Given the description of an element on the screen output the (x, y) to click on. 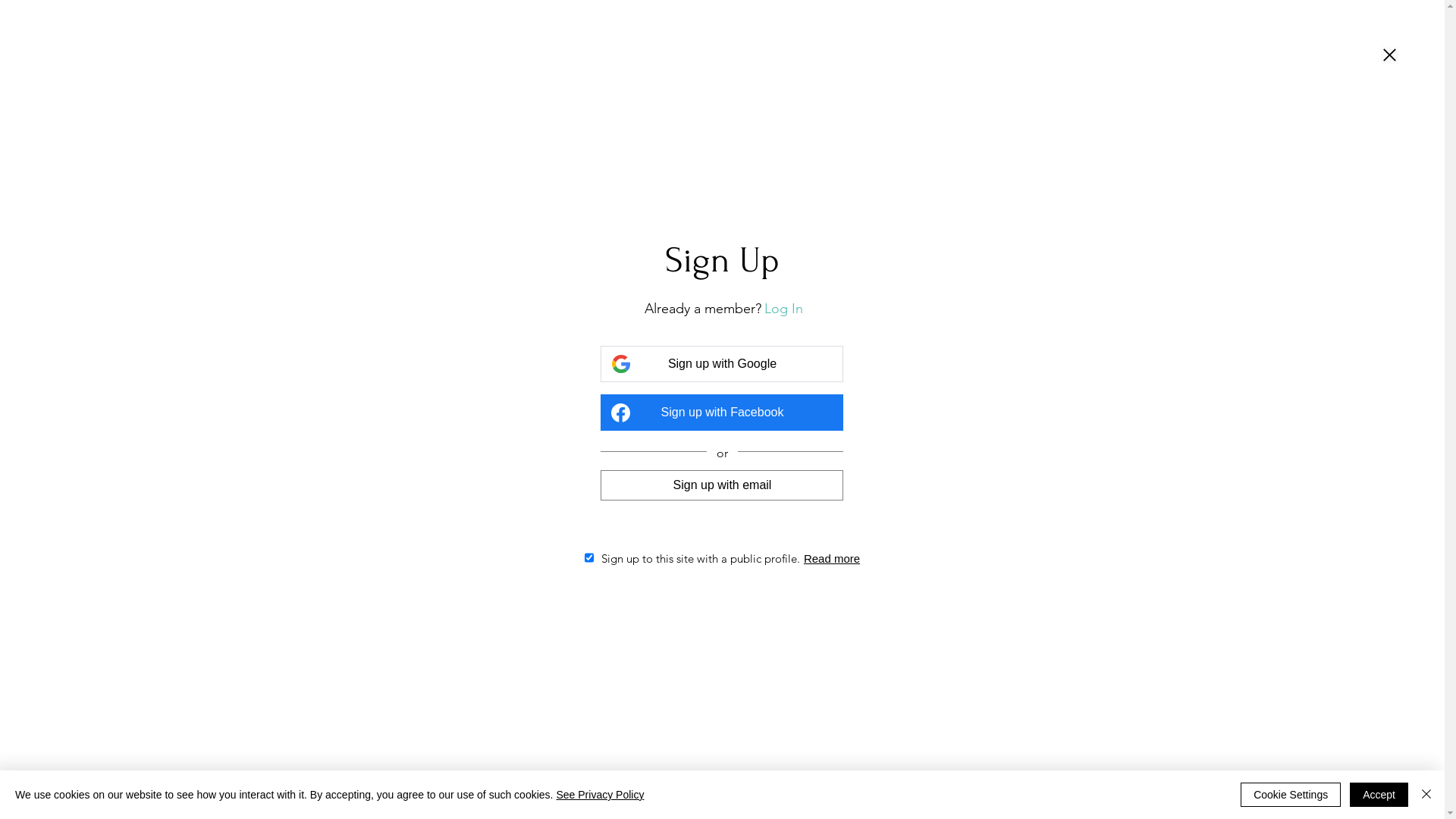
Log In Element type: text (783, 309)
Read more Element type: text (831, 558)
Sign up with Google Element type: text (721, 363)
Sign up with Facebook Element type: text (721, 412)
Sign up with email Element type: text (721, 485)
See Privacy Policy Element type: text (599, 794)
Cookie Settings Element type: text (1290, 794)
Accept Element type: text (1378, 794)
